Given the description of an element on the screen output the (x, y) to click on. 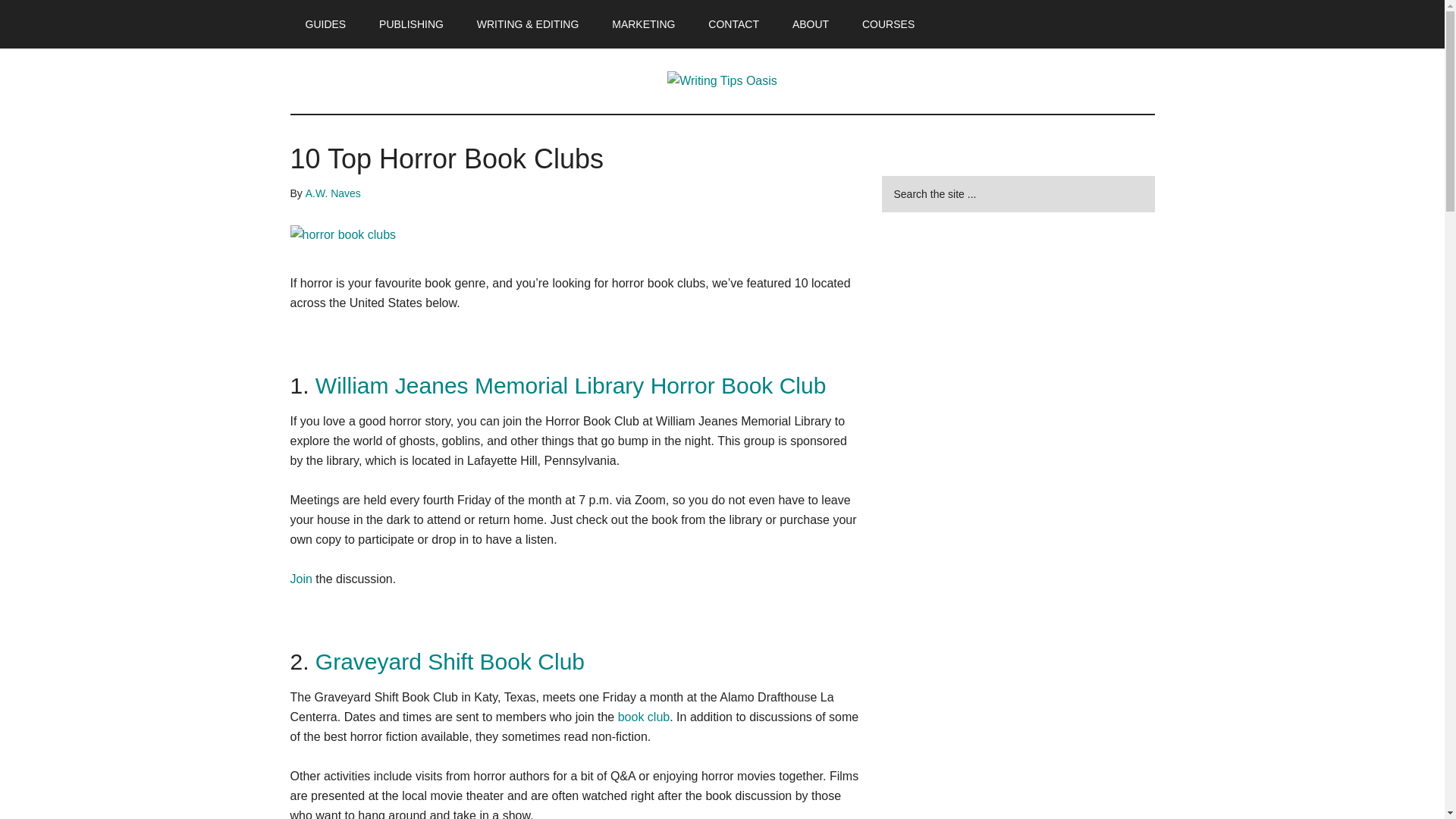
MARKETING (643, 24)
ABOUT (810, 24)
Graveyard Shift Book Club (450, 661)
book club (643, 716)
CONTACT (733, 24)
PUBLISHING (411, 24)
GUIDES (325, 24)
